Given the description of an element on the screen output the (x, y) to click on. 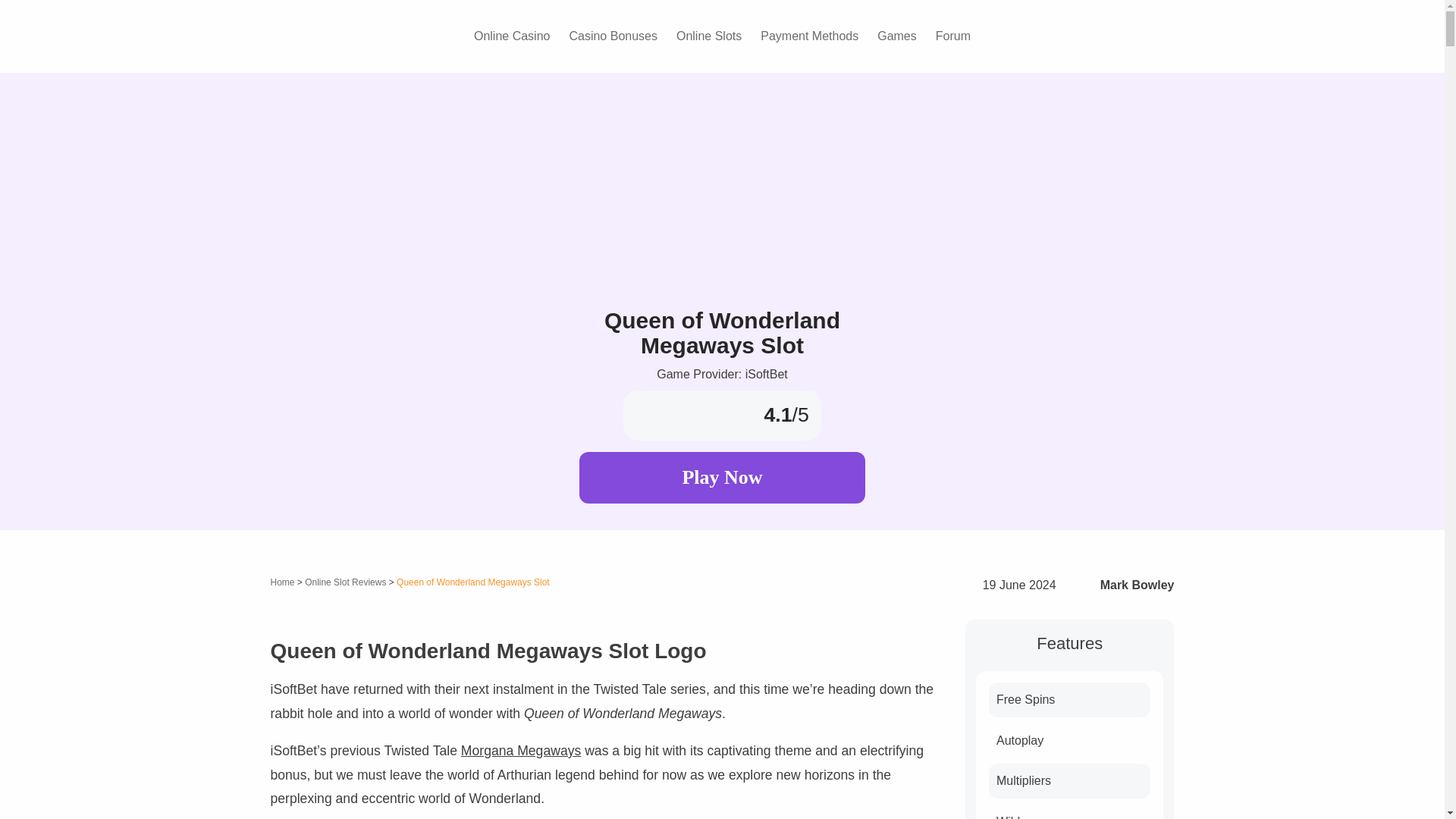
Payment Methods (809, 36)
Fruity Slots (335, 35)
Casino Bonuses (612, 36)
Search (1157, 36)
Posts by Mark Bowley (1137, 584)
iSoftBet (721, 373)
Online Slots (708, 36)
Online Casino (511, 36)
Play Now (721, 477)
